Given the description of an element on the screen output the (x, y) to click on. 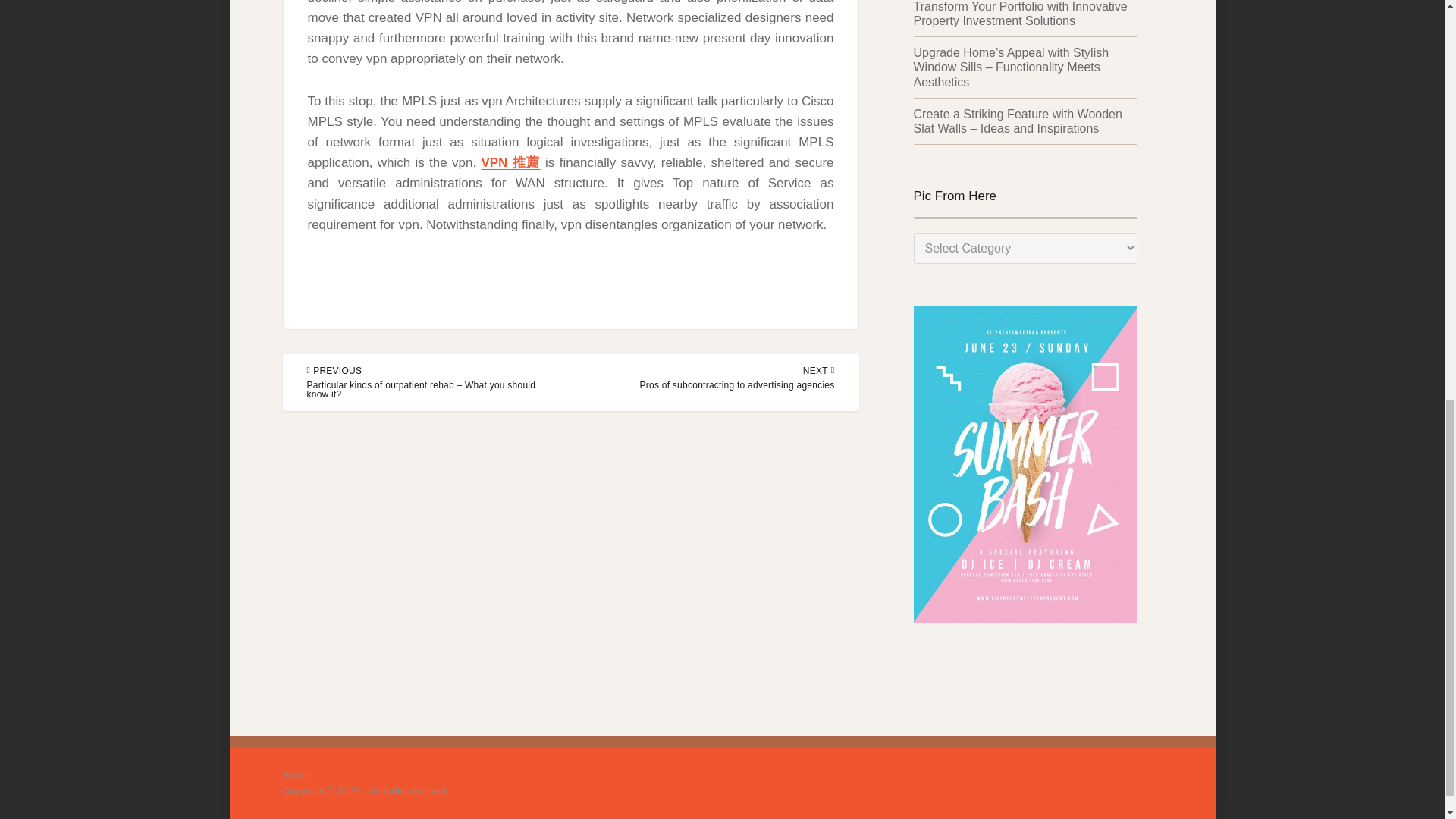
Home (296, 774)
